Given the description of an element on the screen output the (x, y) to click on. 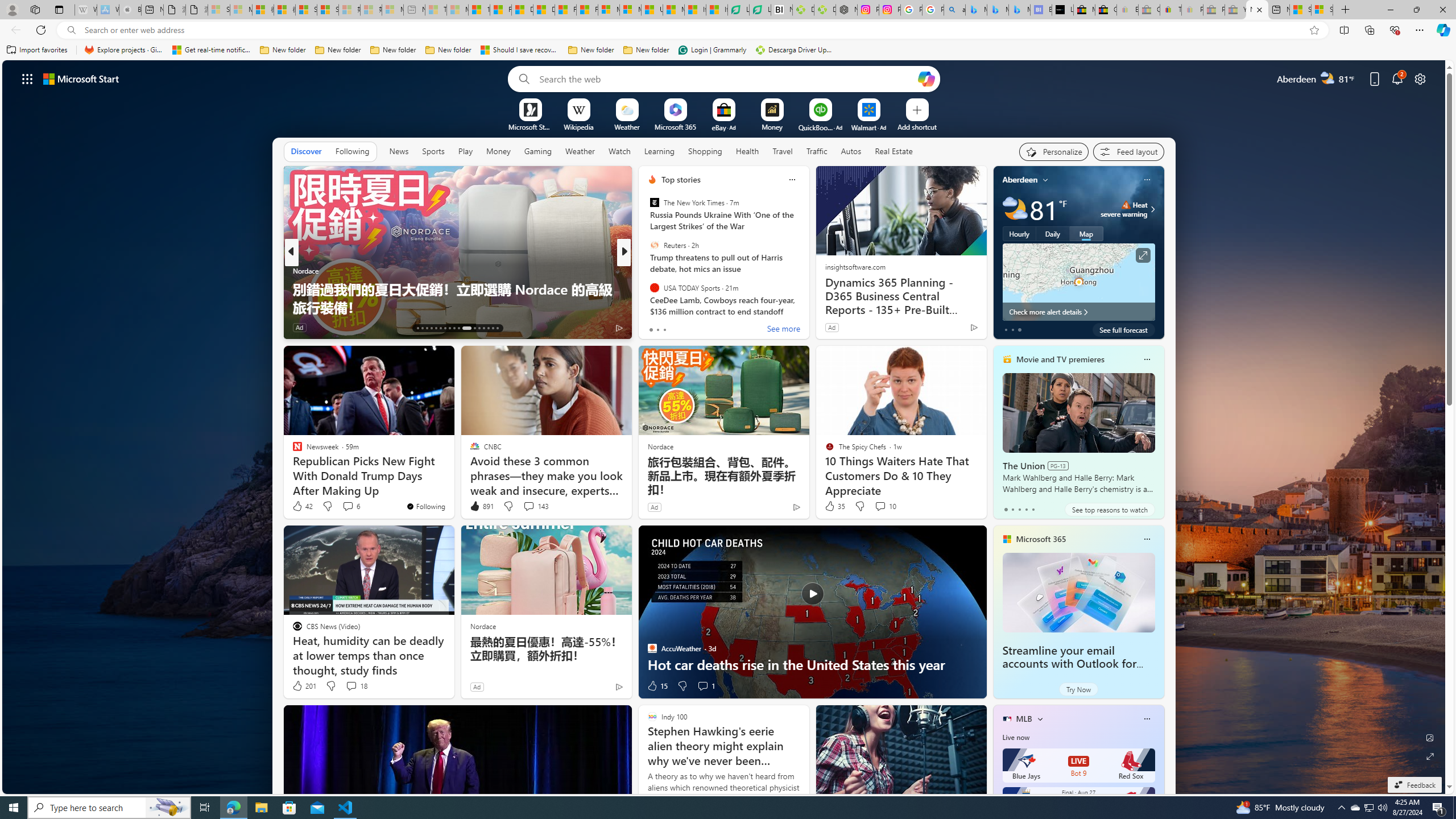
AutomationID: tab-17 (435, 328)
AutomationID: tab-18 (440, 328)
Top stories (680, 179)
Learning (658, 151)
AutomationID: tab-33 (497, 328)
13 Smells Ants Absolutely Hate (807, 307)
Health (746, 151)
Expand background (1430, 756)
Wikipedia (578, 126)
